Given the description of an element on the screen output the (x, y) to click on. 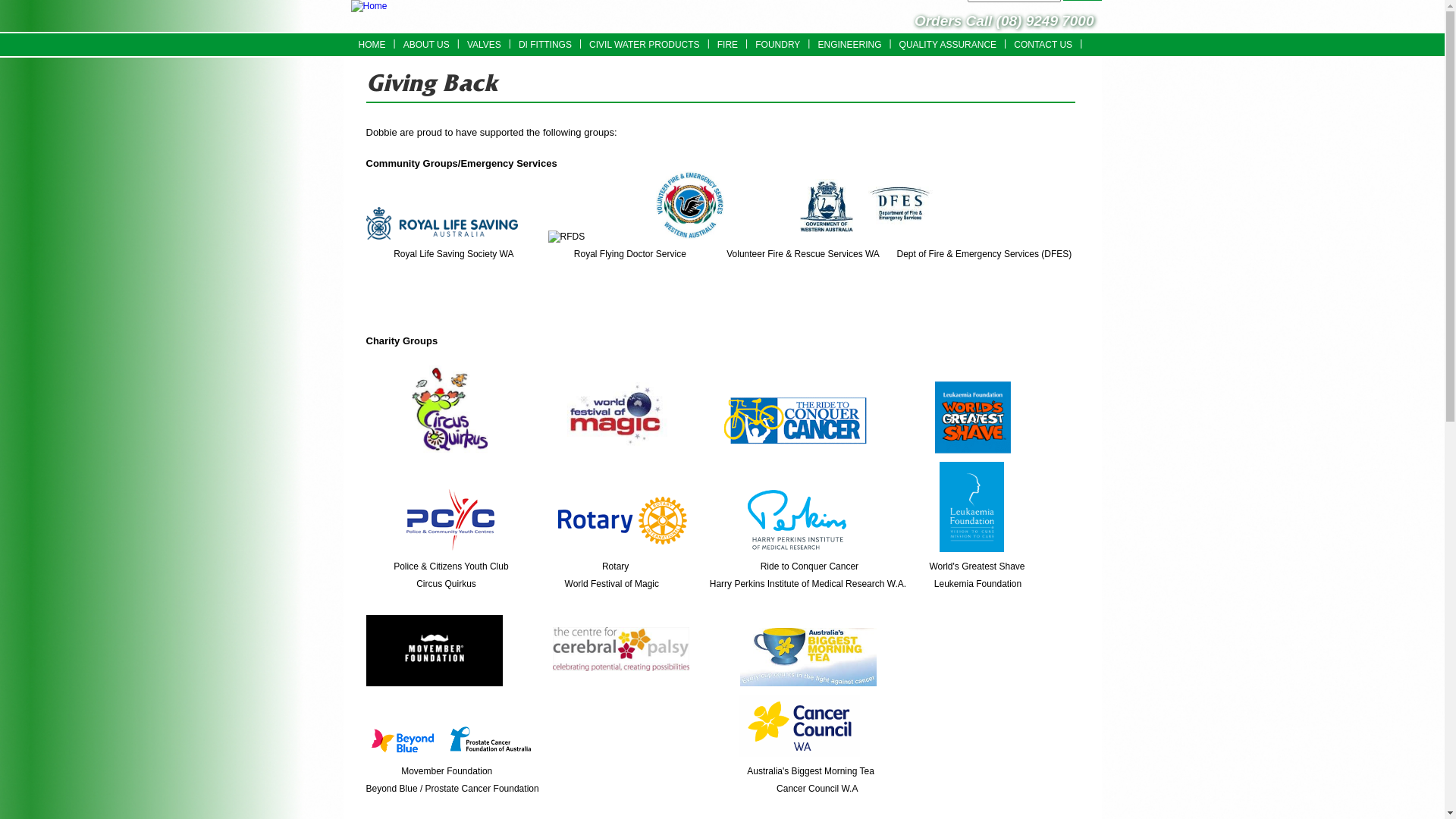
Beyond Blue Element type: hover (401, 740)
Morning Tea Element type: hover (808, 656)
Greatest Shave Element type: hover (972, 417)
Harry Perkins Element type: hover (796, 518)
CONTACT US Element type: text (1042, 44)
Royal Lifesaving WA Element type: hover (441, 223)
VALVES Element type: text (483, 44)
DFES Element type: hover (864, 205)
Jump to navigation Element type: text (722, 2)
Conquer Cancer Element type: hover (790, 420)
Cancer Council WA Element type: hover (798, 725)
Rotary Small Element type: hover (622, 520)
FIRE Element type: text (727, 44)
Fire Rescue Element type: hover (689, 205)
C Palsy Element type: hover (620, 649)
ENGINEERING Element type: text (848, 44)
Leukaemia Foundation Element type: hover (971, 506)
Home Element type: hover (368, 6)
festival of magic Element type: hover (614, 420)
Movember Element type: hover (433, 650)
ABOUT US Element type: text (426, 44)
RFDS Element type: hover (566, 236)
FOUNDRY Element type: text (777, 44)
PCYC Small Element type: hover (450, 519)
CIVIL WATER PRODUCTS Element type: text (644, 44)
QUALITY ASSURANCE Element type: text (947, 44)
DI FITTINGS Element type: text (545, 44)
Quirkus Circus Element type: hover (449, 409)
HOME Element type: text (371, 44)
Prostate Element type: hover (487, 739)
